Given the description of an element on the screen output the (x, y) to click on. 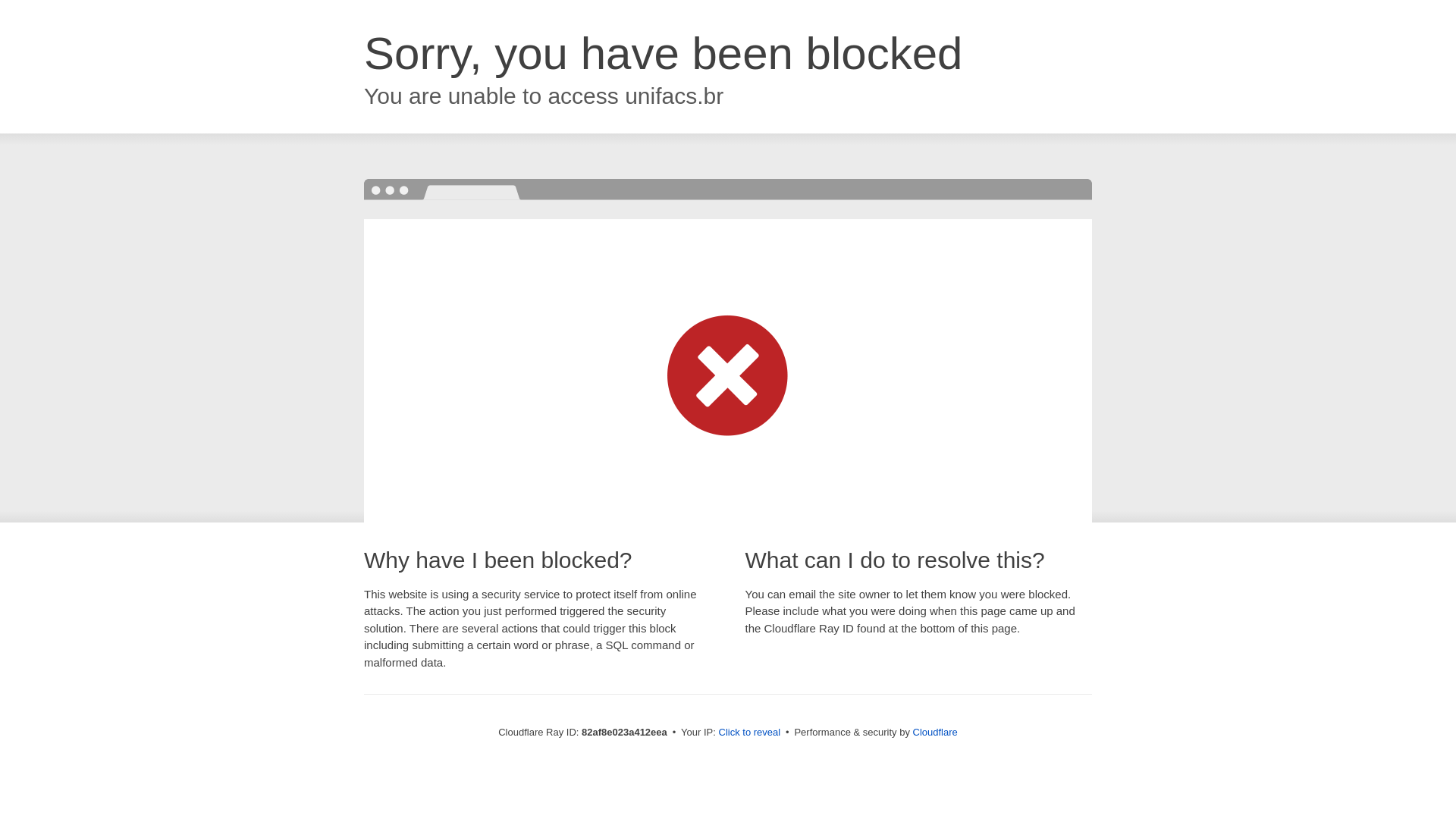
Cloudflare Element type: text (935, 731)
Click to reveal Element type: text (749, 732)
